Given the description of an element on the screen output the (x, y) to click on. 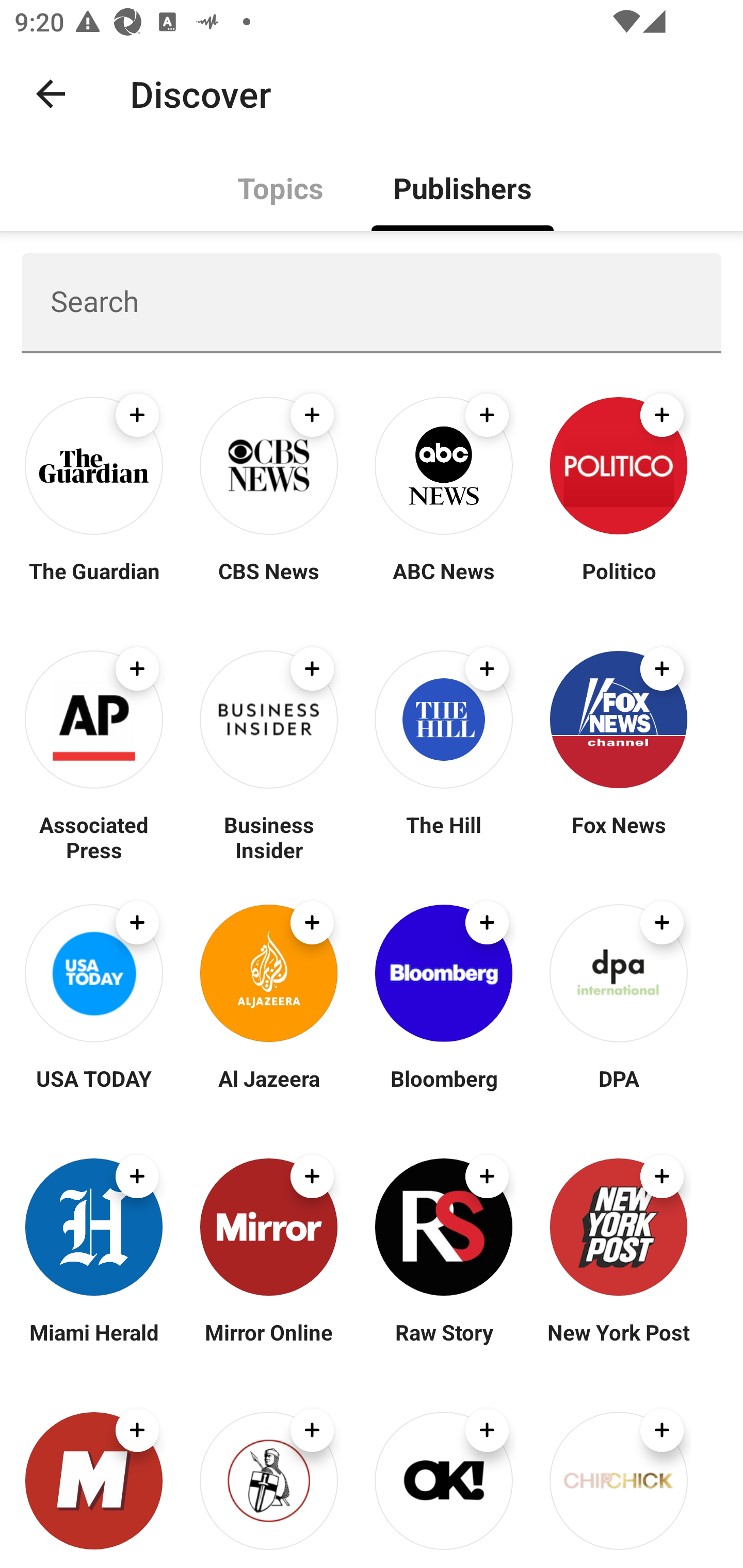
Topics (280, 187)
Search (371, 302)
The Guardian (93, 582)
CBS News (268, 582)
ABC News (443, 582)
Politico (618, 582)
Associated Press (93, 836)
Business Insider (268, 836)
The Hill (443, 836)
Fox News (618, 836)
USA TODAY (93, 1090)
Al Jazeera (268, 1090)
Bloomberg (443, 1090)
DPA (618, 1090)
Miami Herald (93, 1344)
Mirror Online (268, 1344)
Raw Story (443, 1344)
New York Post (618, 1344)
